Given the description of an element on the screen output the (x, y) to click on. 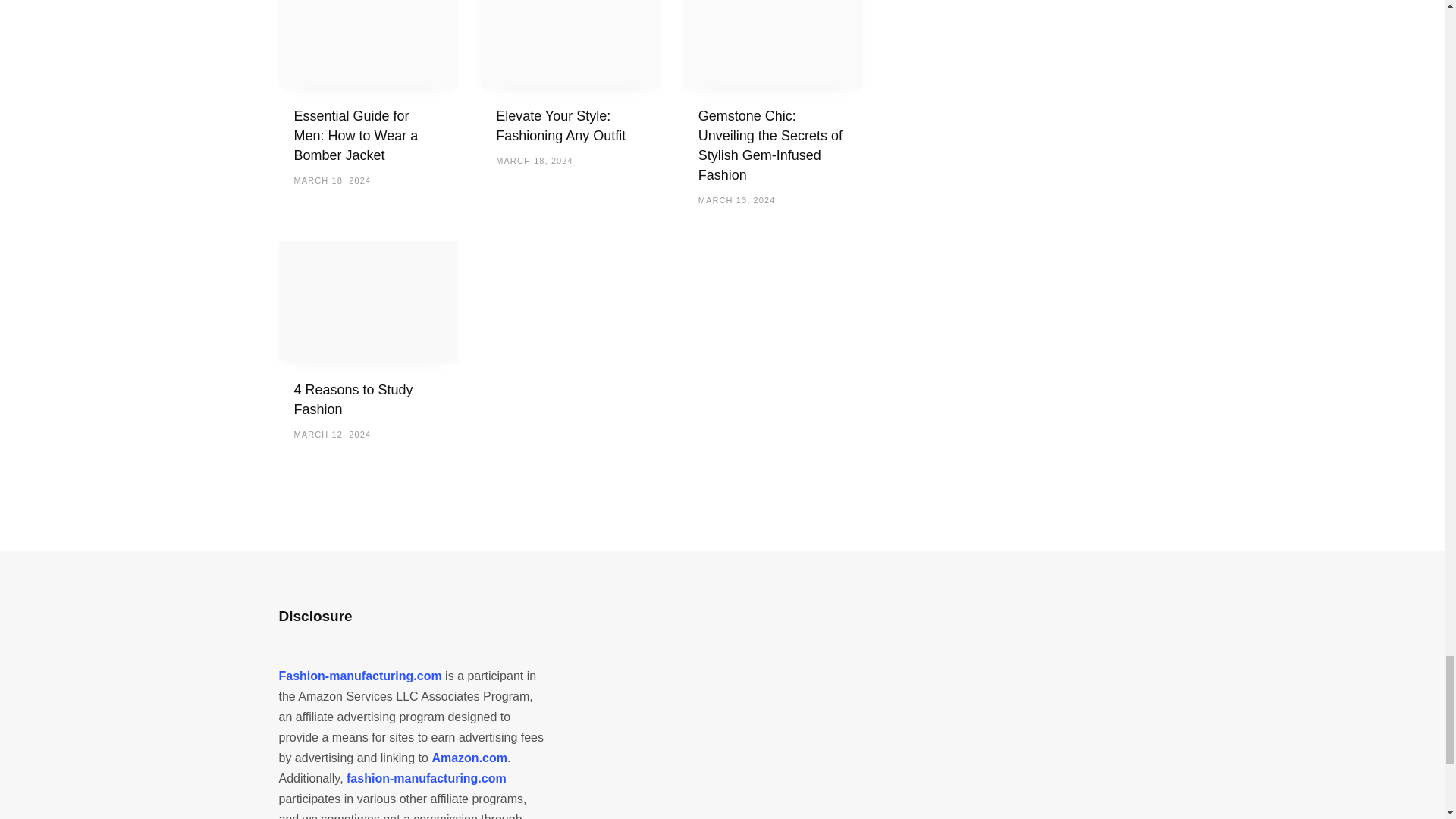
Elevate Your Style: Fashioning Any Outfit (570, 43)
Elevate Your Style: Fashioning Any Outfit (561, 125)
Essential Guide for Men: How to Wear a Bomber Jacket (356, 135)
